Given the description of an element on the screen output the (x, y) to click on. 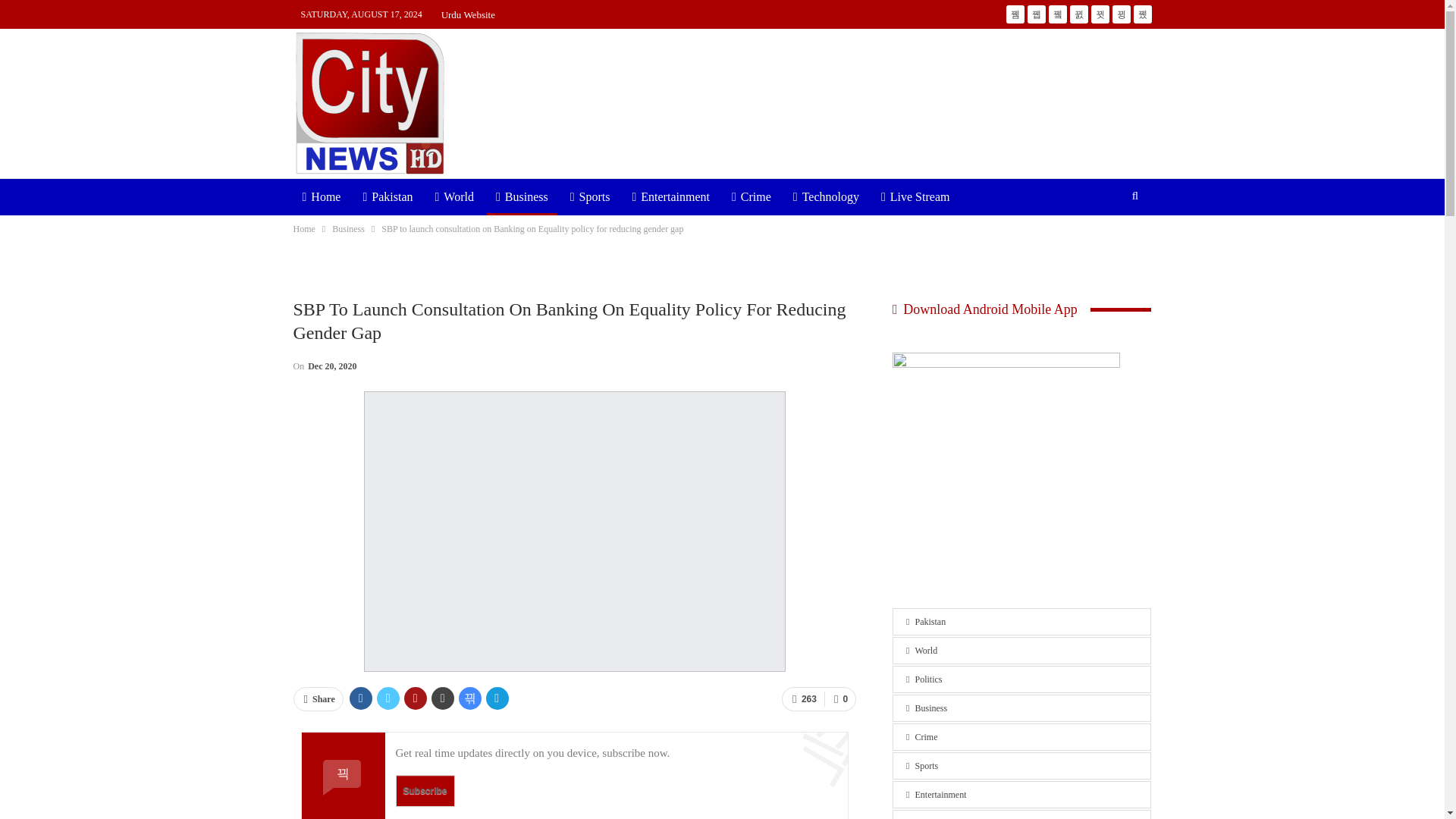
Home (320, 197)
Business (348, 228)
Urdu Website (468, 14)
Live Stream (915, 197)
Technology (825, 197)
World (454, 197)
Sports (590, 197)
Home (303, 228)
Crime (751, 197)
Entertainment (670, 197)
